Given the description of an element on the screen output the (x, y) to click on. 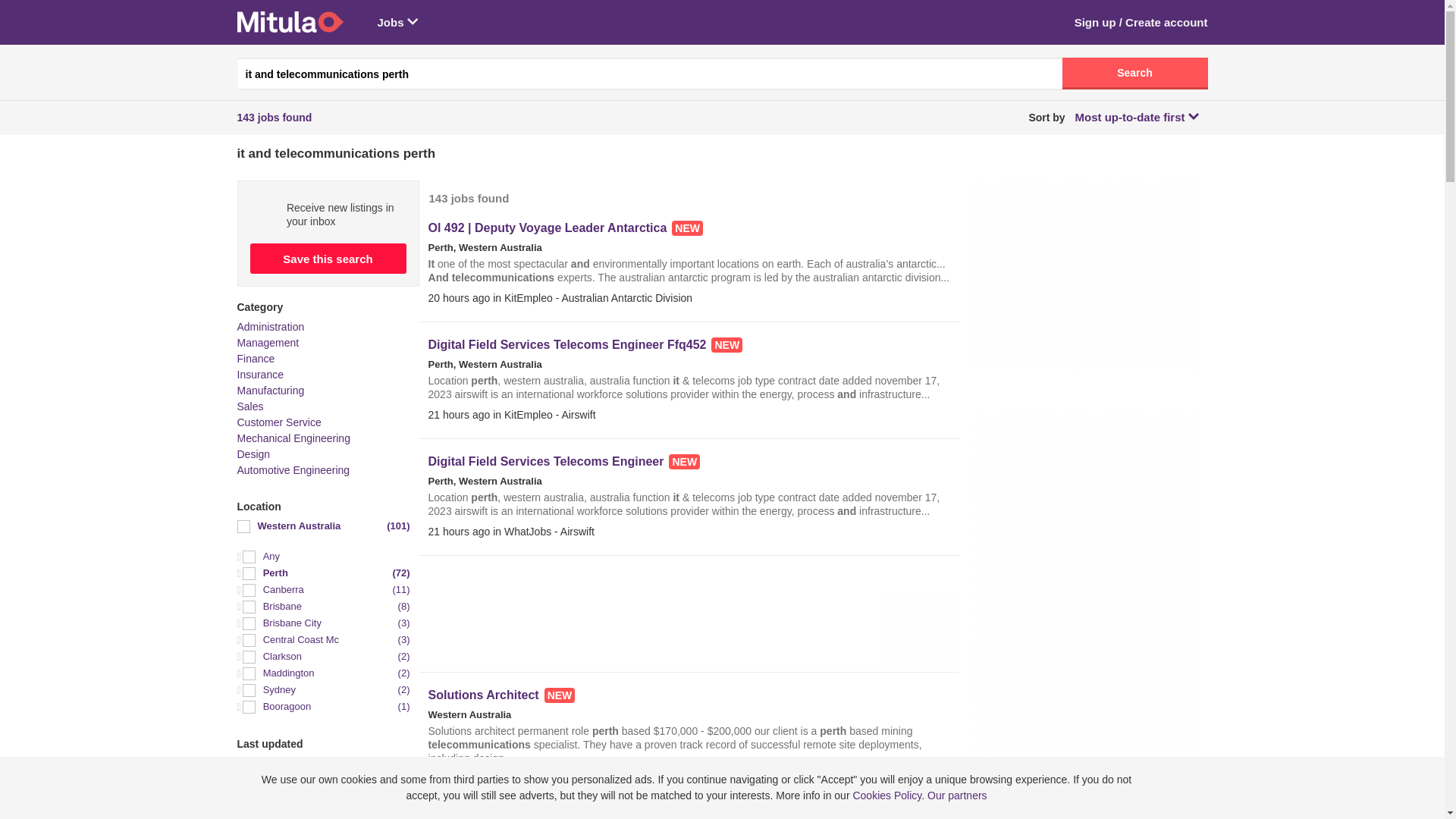
Sign up / Create account Element type: text (1141, 21)
Finance Element type: text (255, 358)
Administration Element type: text (270, 326)
Manufacturing Element type: text (270, 390)
Cookies Policy Element type: text (886, 795)
Our partners Element type: text (957, 795)
Customer Service Element type: text (278, 422)
Automotive Engineering Element type: text (292, 470)
15 days ago Element type: text (322, 796)
3rd party ad content Element type: hover (1087, 275)
Western Australia
(101) Element type: text (322, 526)
One week ago Element type: text (322, 780)
3rd party ad content Element type: hover (689, 619)
Sales Element type: text (249, 406)
One day ago Element type: text (322, 763)
Save this search Element type: text (328, 258)
Design Element type: text (252, 454)
Insurance Element type: text (259, 374)
Management Element type: text (267, 342)
Mitula Jobs Element type: hover (289, 21)
Mechanical Engineering Element type: text (292, 438)
